Given the description of an element on the screen output the (x, y) to click on. 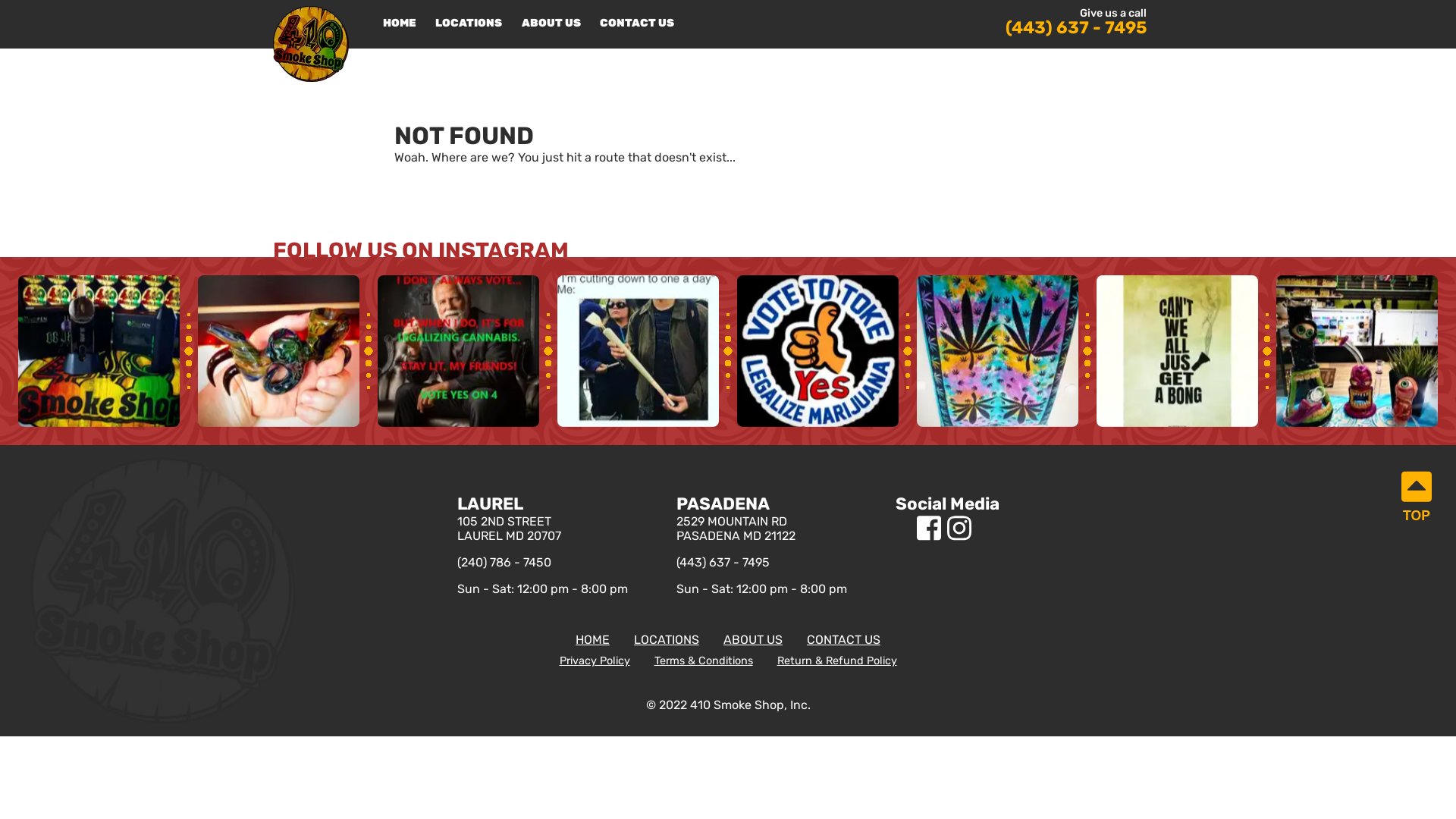
HOME Element type: text (592, 639)
LOCATIONS Element type: text (666, 639)
CONTACT US Element type: text (637, 23)
LOCATIONS Element type: text (468, 23)
(240) 786 - 7450 Element type: text (503, 562)
HOME Element type: text (398, 23)
2529 MOUNTAIN RD
PASADENA MD 21122 Element type: text (761, 541)
(443) 637 - 7495 Element type: text (1075, 27)
CONTACT US Element type: text (843, 639)
Return & Refund Policy Element type: text (836, 660)
Privacy Policy Element type: text (594, 660)
(443) 637 - 7495 Element type: text (722, 562)
ABOUT US Element type: text (752, 639)
ABOUT US Element type: text (551, 23)
105 2ND STREET
LAUREL MD 20707 Element type: text (541, 541)
TOP Element type: text (1416, 496)
Terms & Conditions Element type: text (702, 660)
